Given the description of an element on the screen output the (x, y) to click on. 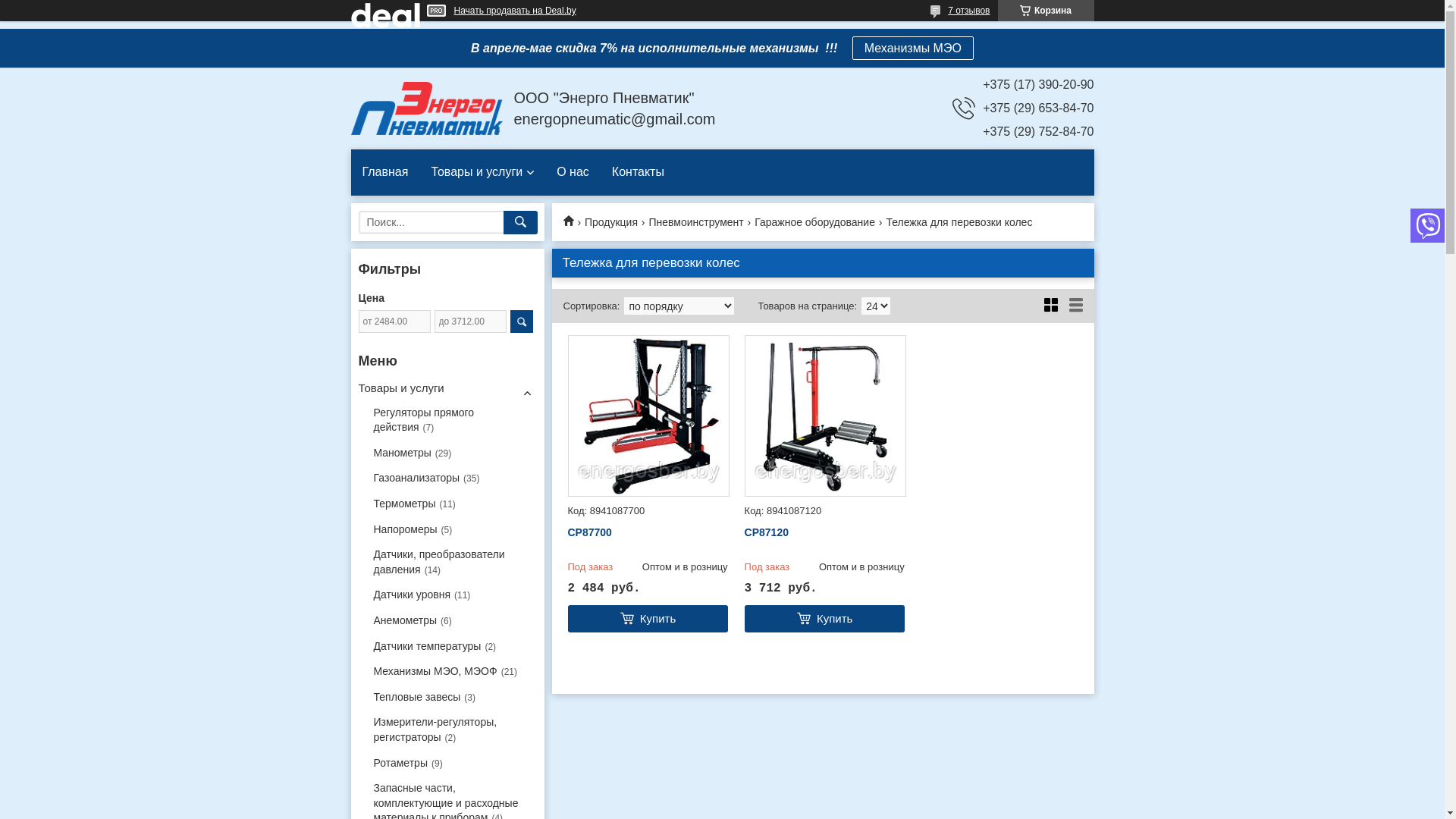
CP87700 Element type: text (647, 532)
CP87120 Element type: hover (825, 415)
CP87120 Element type: text (824, 532)
CP87700 Element type: hover (647, 415)
